Given the description of an element on the screen output the (x, y) to click on. 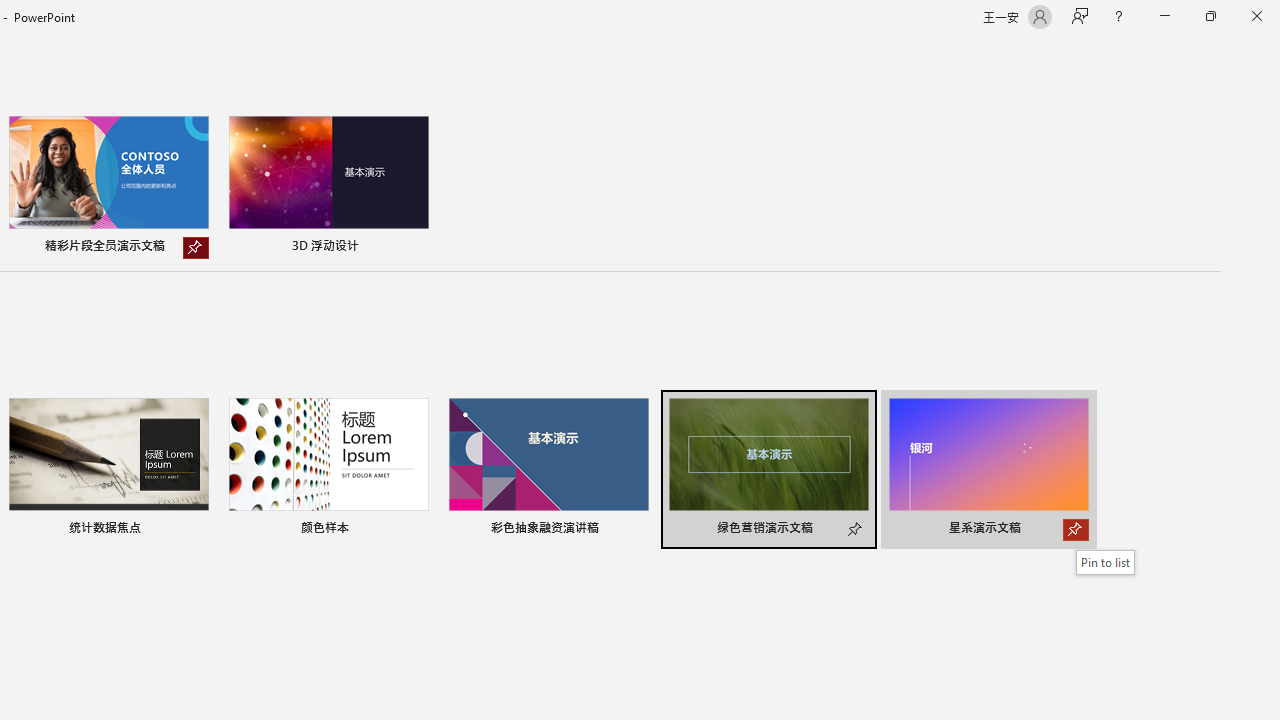
Pin to list (1105, 562)
Unpin from list (195, 247)
Pin to list (1075, 529)
